Given the description of an element on the screen output the (x, y) to click on. 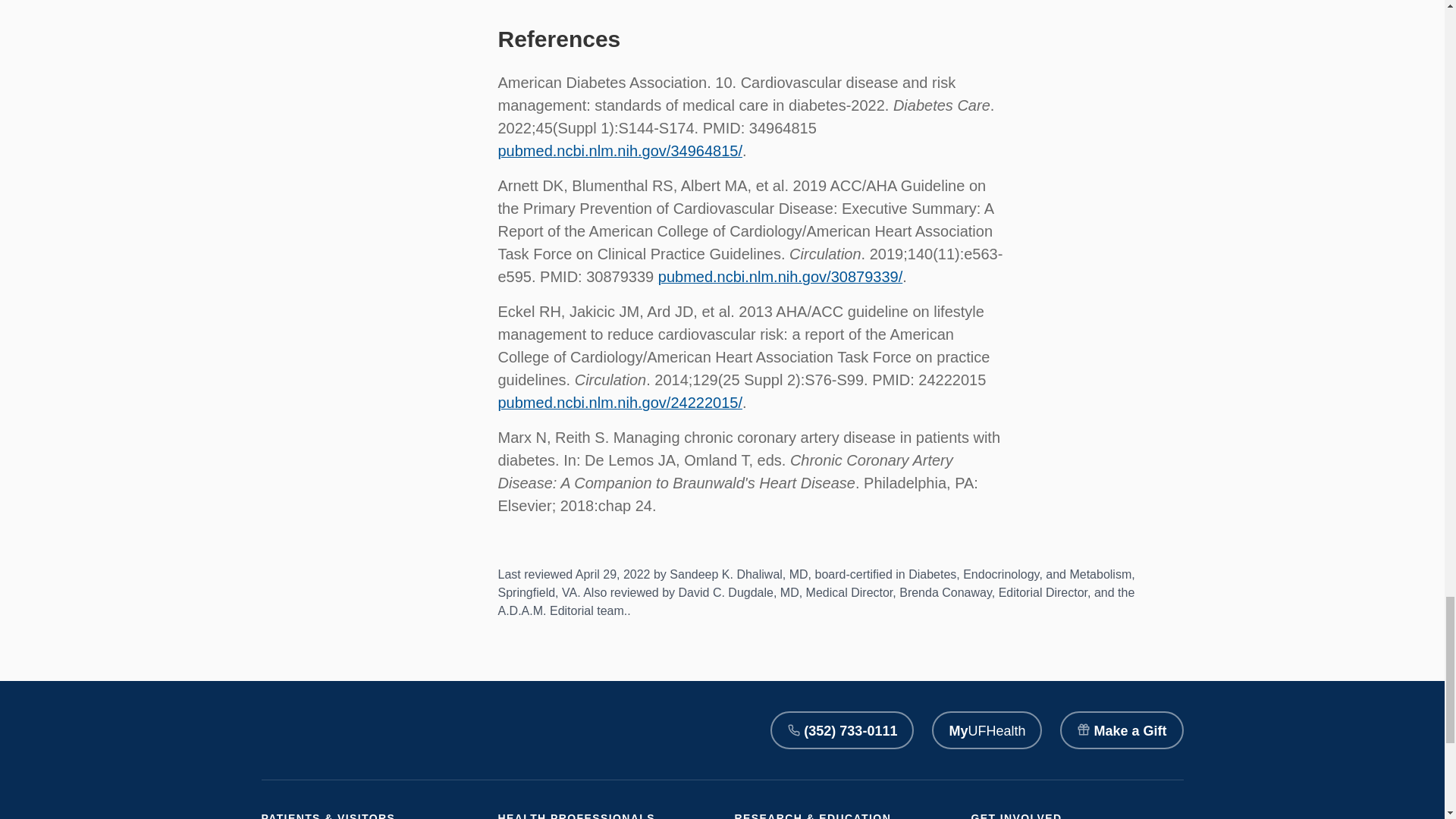
University of Florida (452, 730)
MyUFHealth (986, 730)
Make a Gift (1120, 730)
University of Florida Health (310, 730)
